Given the description of an element on the screen output the (x, y) to click on. 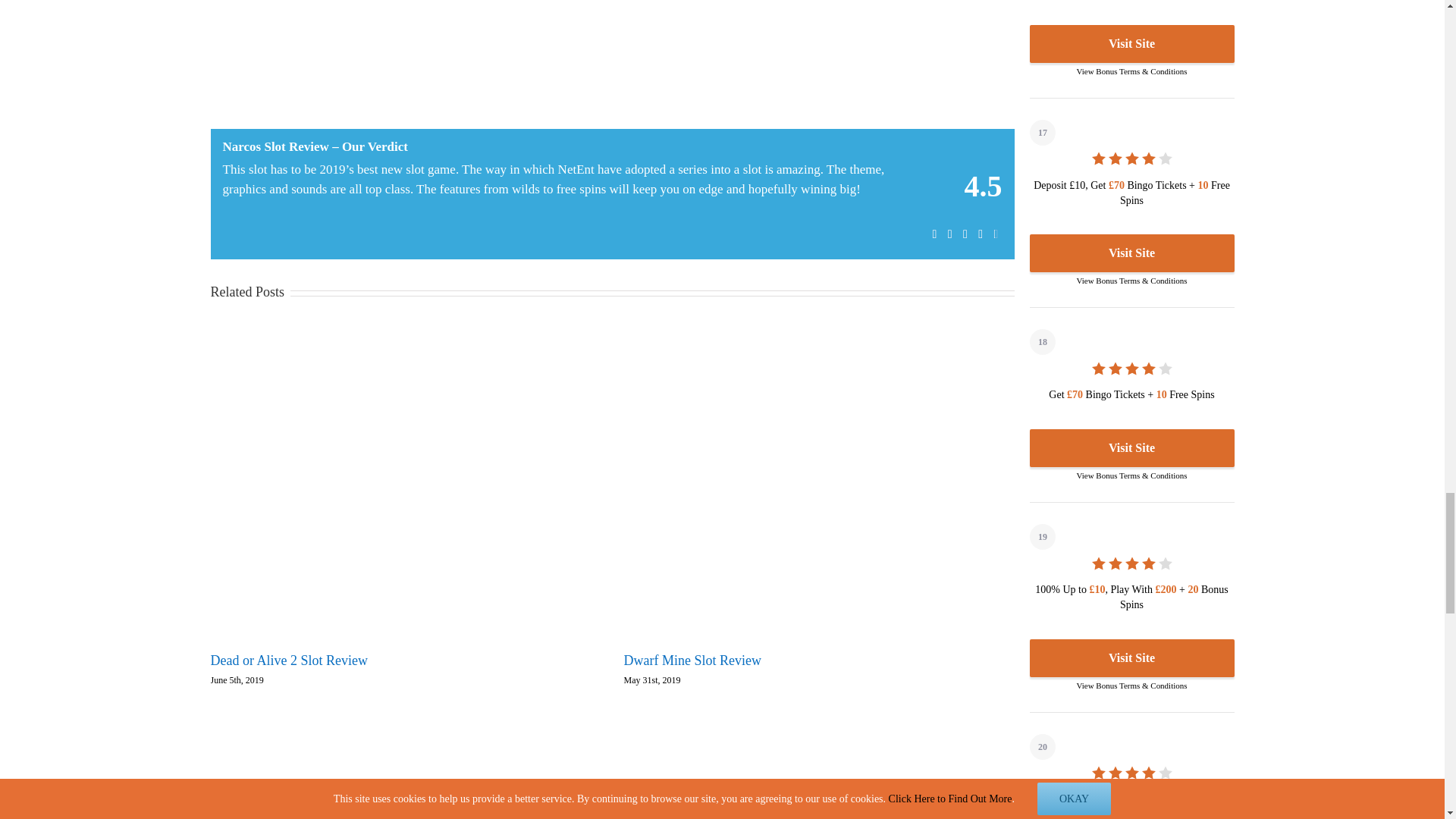
Dwarf Mine Slot Review (691, 660)
Dead or Alive 2 Slot Review (289, 660)
